Given the description of an element on the screen output the (x, y) to click on. 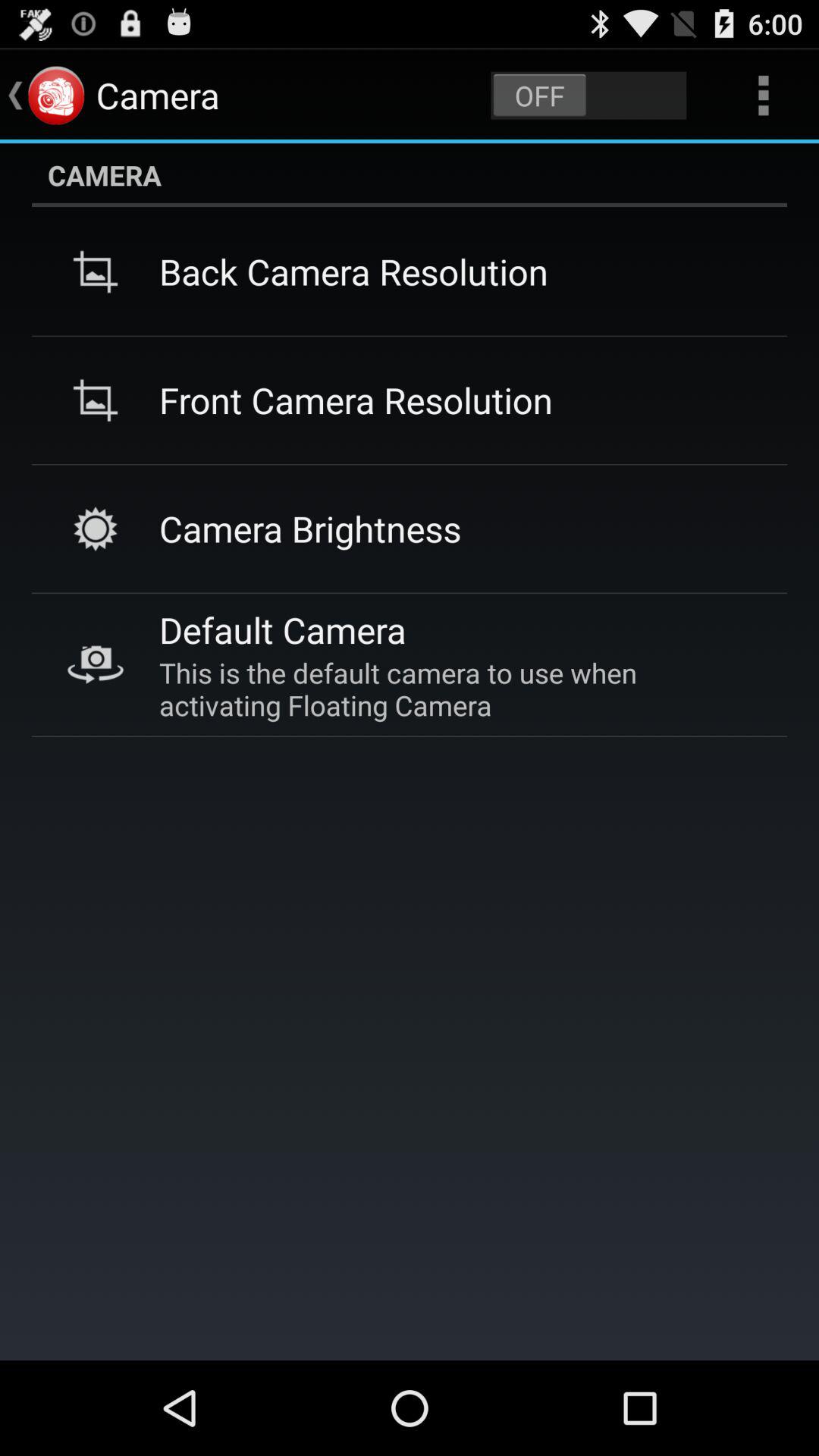
toggle camera off/on (588, 95)
